Given the description of an element on the screen output the (x, y) to click on. 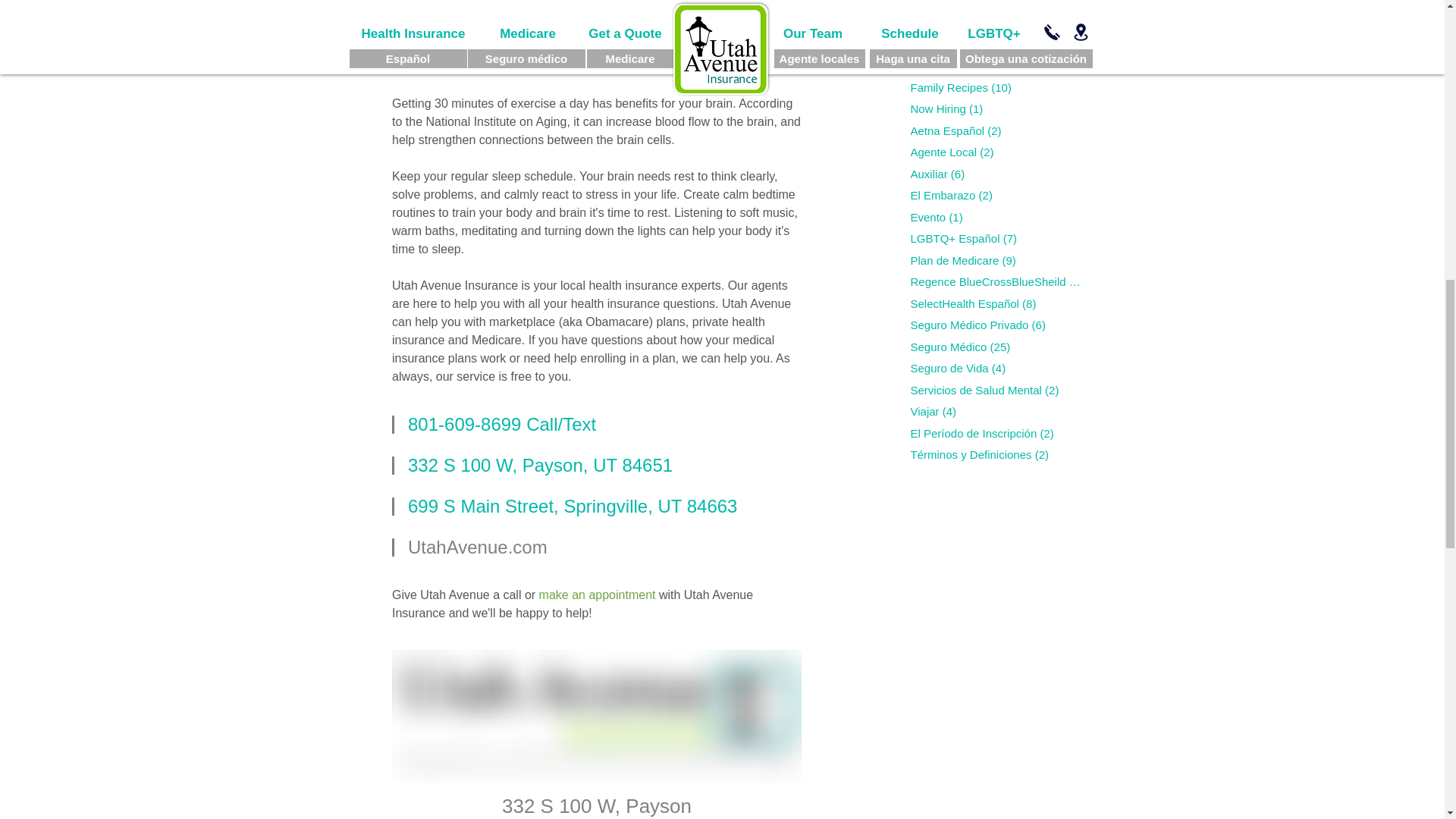
make an appointment (596, 594)
UtahAvenue.com (477, 547)
